Given the description of an element on the screen output the (x, y) to click on. 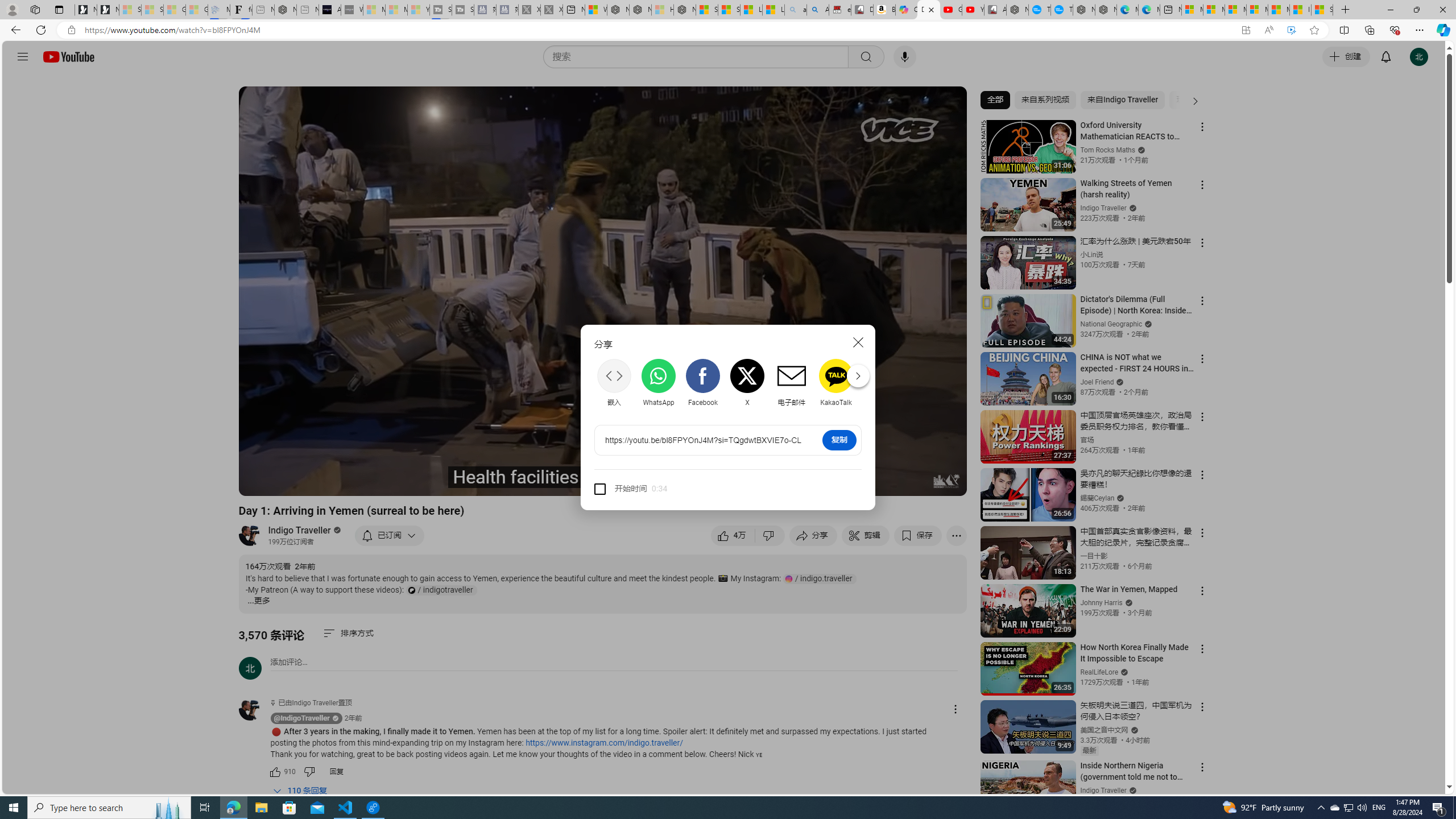
Intro (388, 482)
What's the best AI voice generator? - voice.ai - Sleeping (352, 9)
